Given the description of an element on the screen output the (x, y) to click on. 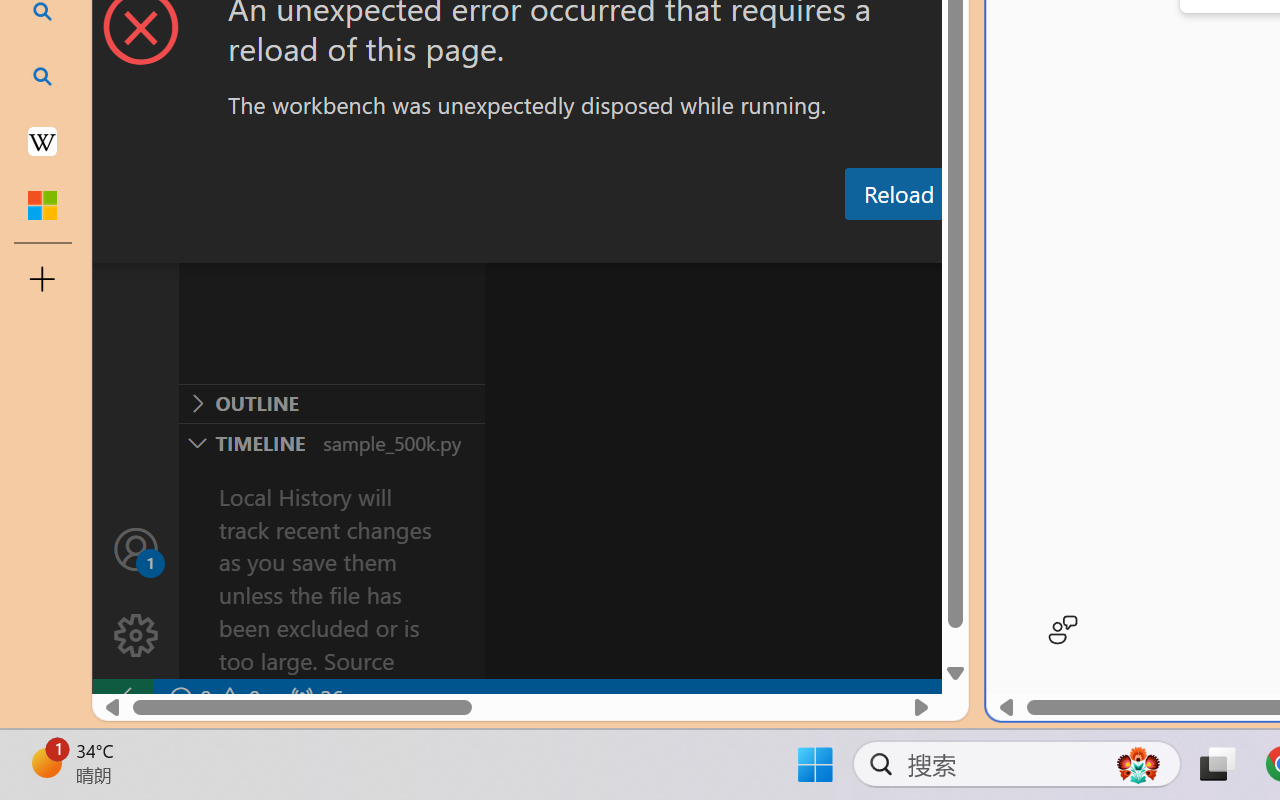
Reload (898, 193)
Manage (135, 635)
No Problems (212, 698)
Terminal (Ctrl+`) (1021, 243)
Timeline Section (331, 442)
Outline Section (331, 403)
remote (122, 698)
